Given the description of an element on the screen output the (x, y) to click on. 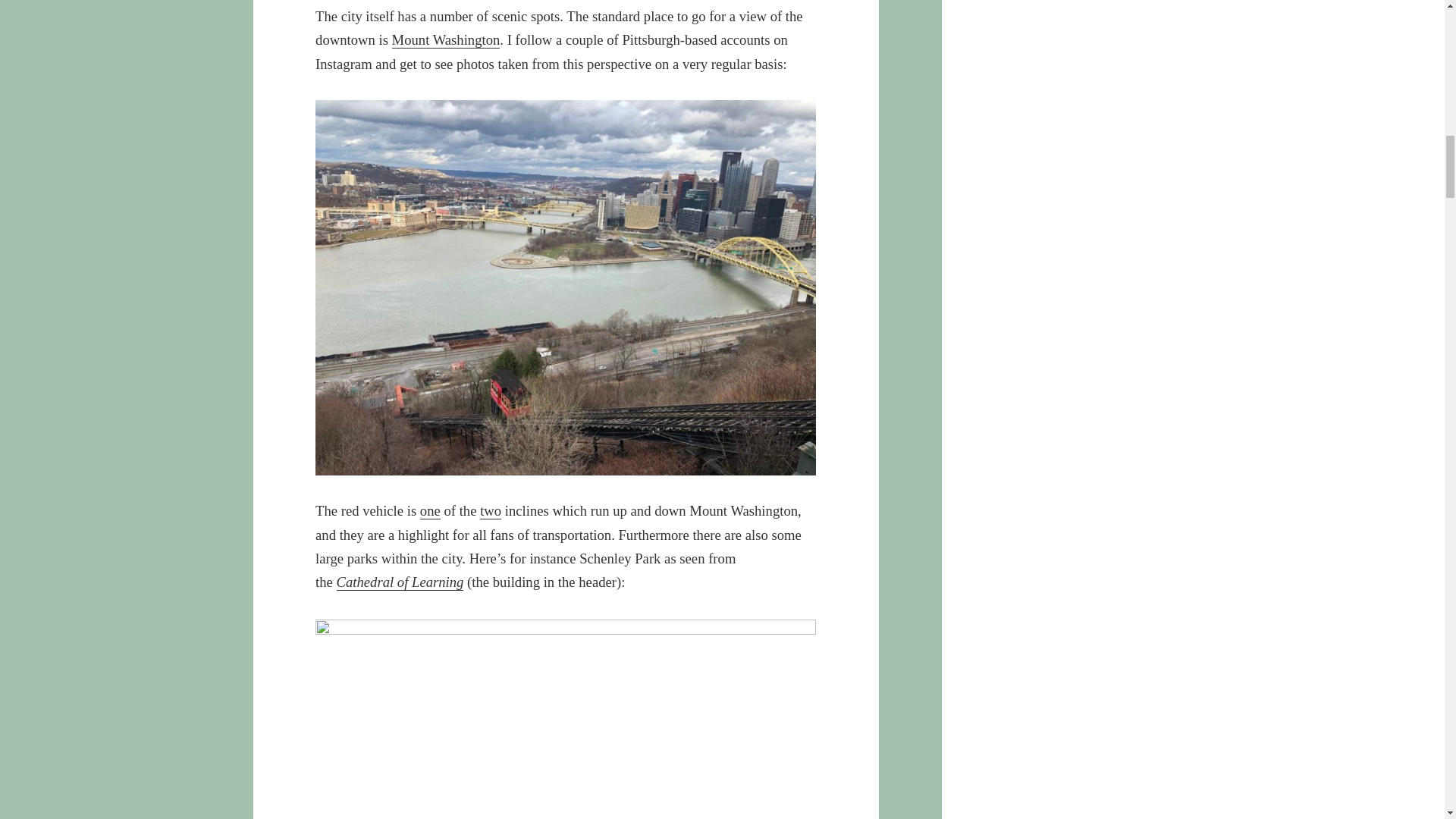
one (430, 510)
Cathedral of Learning (400, 582)
two (490, 510)
Mount Washington (445, 39)
